Given the description of an element on the screen output the (x, y) to click on. 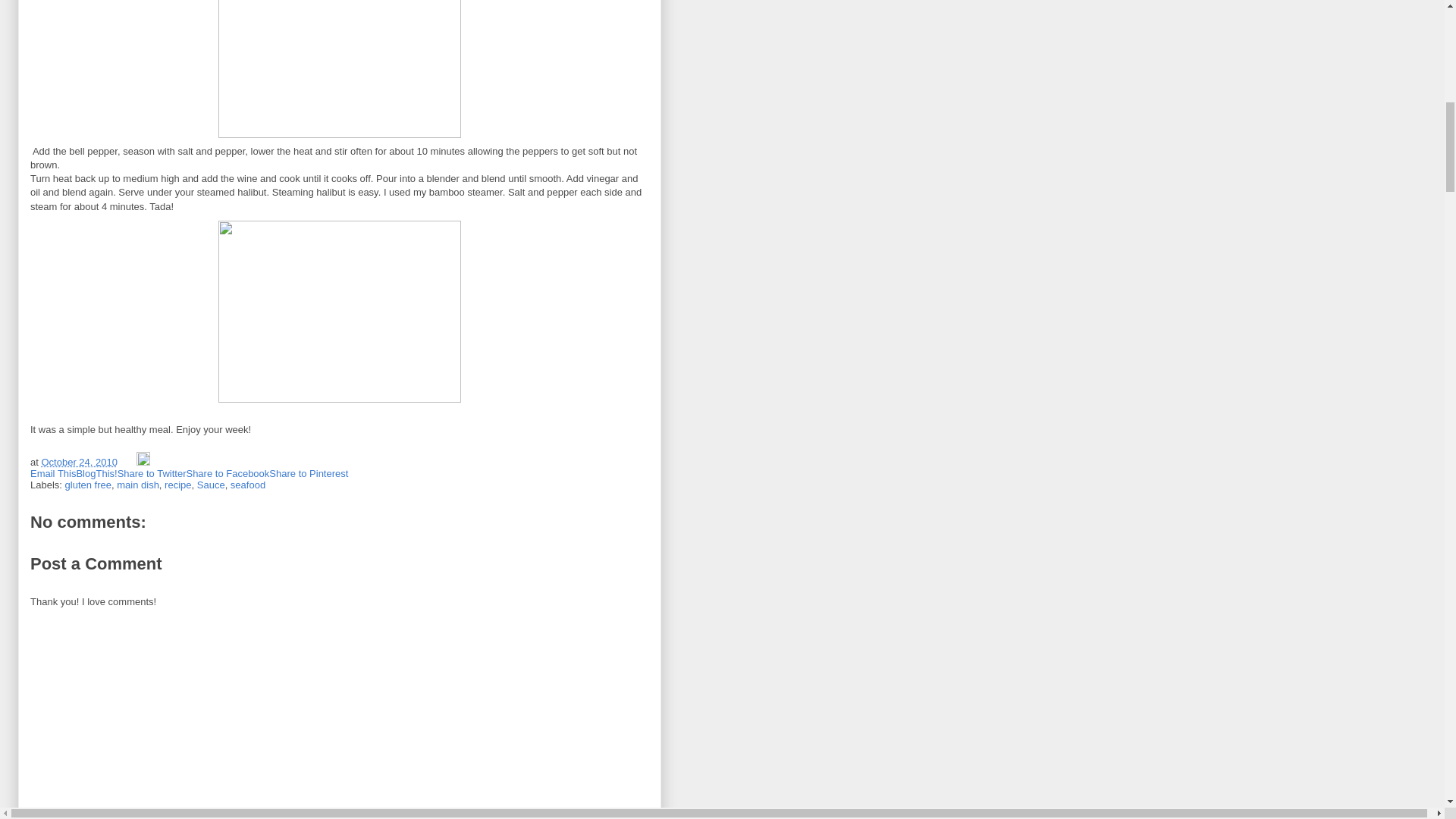
Email This (52, 473)
Sauce (210, 484)
BlogThis! (95, 473)
Email This (52, 473)
gluten free (88, 484)
Edit Post (142, 461)
Share to Facebook (227, 473)
Share to Facebook (227, 473)
recipe (177, 484)
main dish (137, 484)
Email Post (128, 461)
Share to Twitter (151, 473)
BlogThis! (95, 473)
Share to Pinterest (308, 473)
permanent link (78, 461)
